Given the description of an element on the screen output the (x, y) to click on. 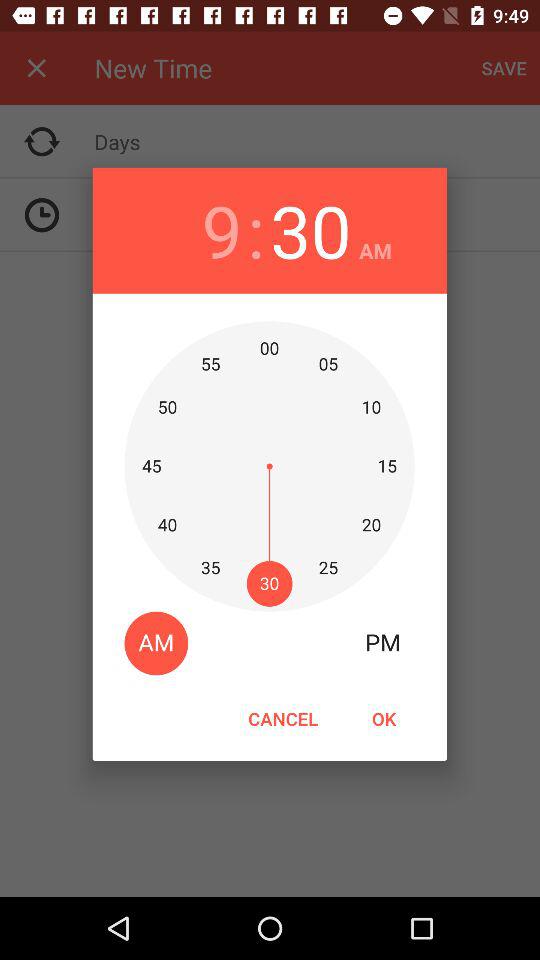
click 9 icon (221, 230)
